Given the description of an element on the screen output the (x, y) to click on. 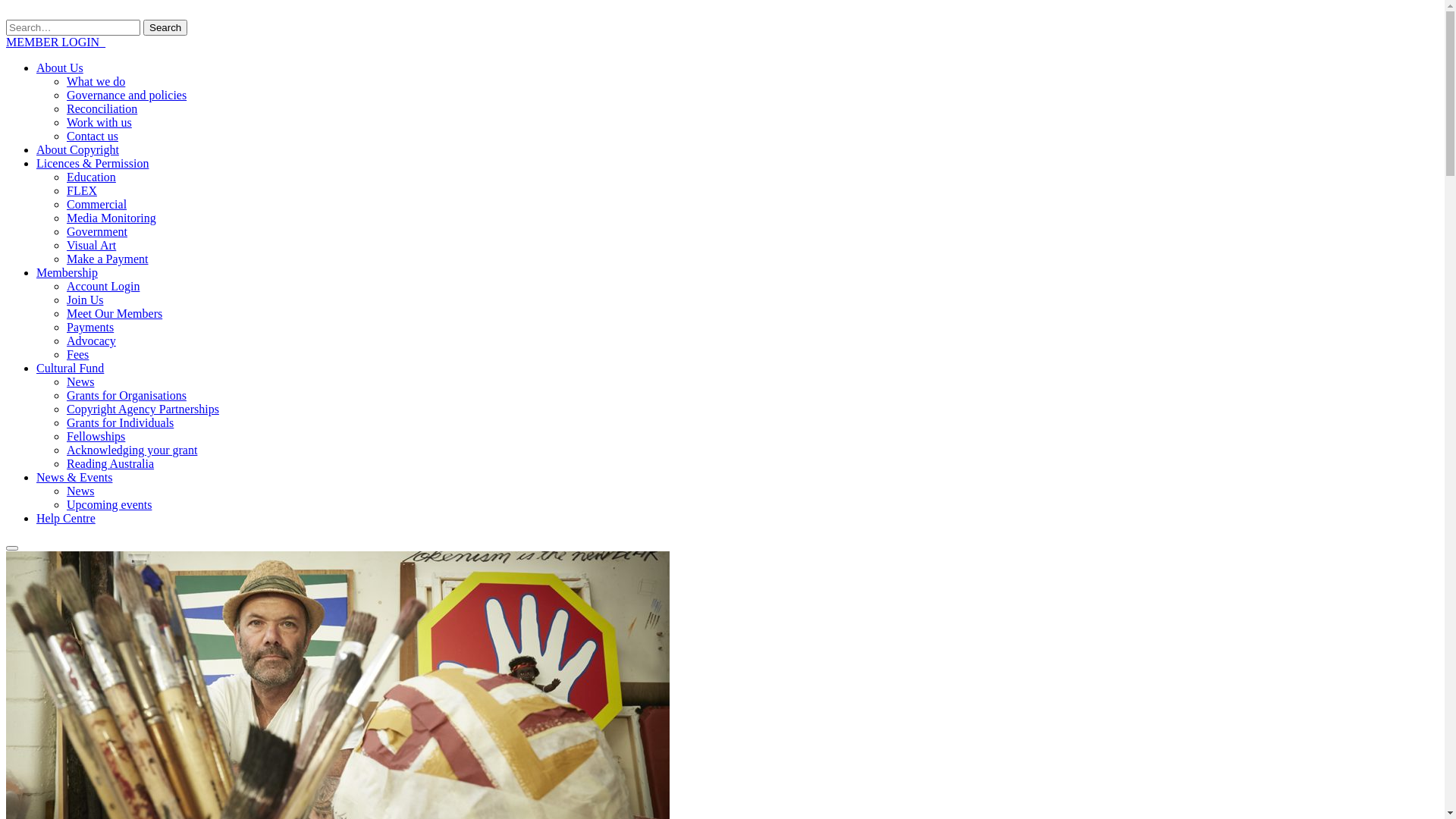
Reading Australia Element type: text (109, 463)
About Us Element type: text (59, 67)
Copyright Agency Partnerships Element type: text (142, 408)
Join Us Element type: text (84, 299)
Search Element type: text (165, 27)
Reconciliation Element type: text (101, 108)
Membership Element type: text (66, 272)
News & Events Element type: text (74, 476)
FLEX Element type: text (81, 190)
Commercial Element type: text (96, 203)
Advocacy Element type: text (91, 340)
Contact us Element type: text (92, 135)
Governance and policies Element type: text (126, 94)
Media Monitoring Element type: text (111, 217)
Visual Art Element type: text (91, 244)
News Element type: text (80, 490)
Education Element type: text (91, 176)
Cultural Fund Element type: text (69, 367)
News Element type: text (80, 381)
Make a Payment Element type: text (107, 258)
Fellowships Element type: text (95, 435)
Help Centre Element type: text (65, 517)
Government Element type: text (96, 231)
Grants for Organisations Element type: text (126, 395)
Meet Our Members Element type: text (114, 313)
Account Login Element type: text (102, 285)
Fees Element type: text (77, 354)
Licences & Permission Element type: text (92, 162)
Work with us Element type: text (98, 122)
Payments Element type: text (89, 326)
Acknowledging your grant Element type: text (131, 449)
What we do Element type: text (95, 81)
MEMBER LOGIN   Element type: text (55, 41)
About Copyright Element type: text (77, 149)
Upcoming events Element type: text (108, 504)
Grants for Individuals Element type: text (119, 422)
